Given the description of an element on the screen output the (x, y) to click on. 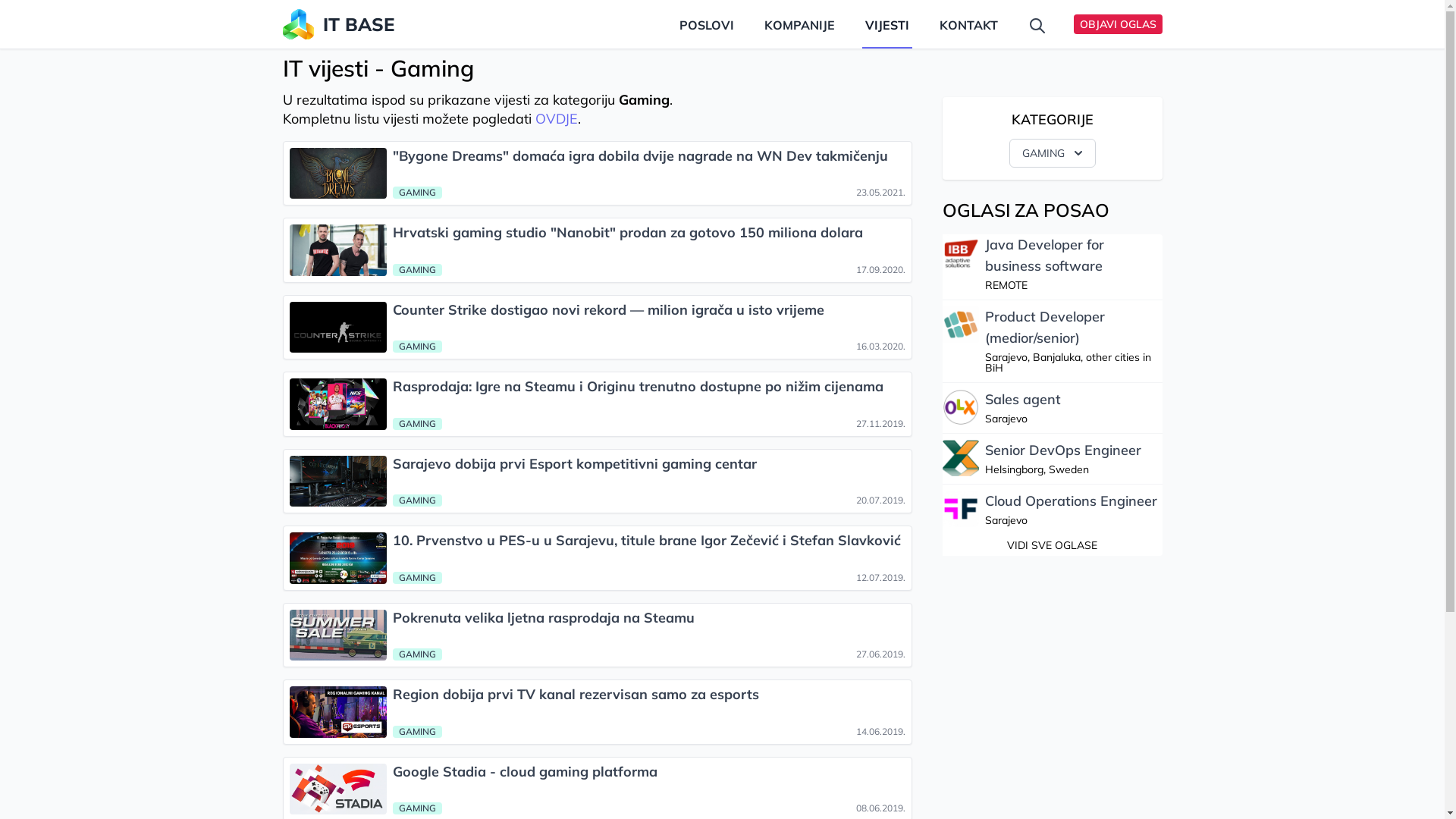
KOMPANIJE Element type: text (799, 24)
Pokrenuta velika ljetna rasprodaja na Steamu Element type: text (648, 618)
Sarajevo dobija prvi Esport kompetitivni gaming centar Element type: text (648, 464)
Java Developer for business software
REMOTE Element type: text (1072, 263)
VIDI SVE OGLASE Element type: text (1052, 545)
Sales agent
Sarajevo Element type: text (1022, 407)
Cloud Operations Engineer
Sarajevo Element type: text (1070, 509)
POSLOVI Element type: text (706, 24)
OVDJE Element type: text (556, 118)
VIJESTI Element type: text (886, 24)
Senior DevOps Engineer
Helsingborg, Sweden Element type: text (1062, 458)
KONTAKT Element type: text (967, 24)
IT BASE Element type: text (353, 24)
Region dobija prvi TV kanal rezervisan samo za esports Element type: text (648, 694)
OBJAVI OGLAS Element type: text (1117, 24)
Google Stadia - cloud gaming platforma Element type: text (648, 772)
GAMING Element type: text (1051, 152)
